Given the description of an element on the screen output the (x, y) to click on. 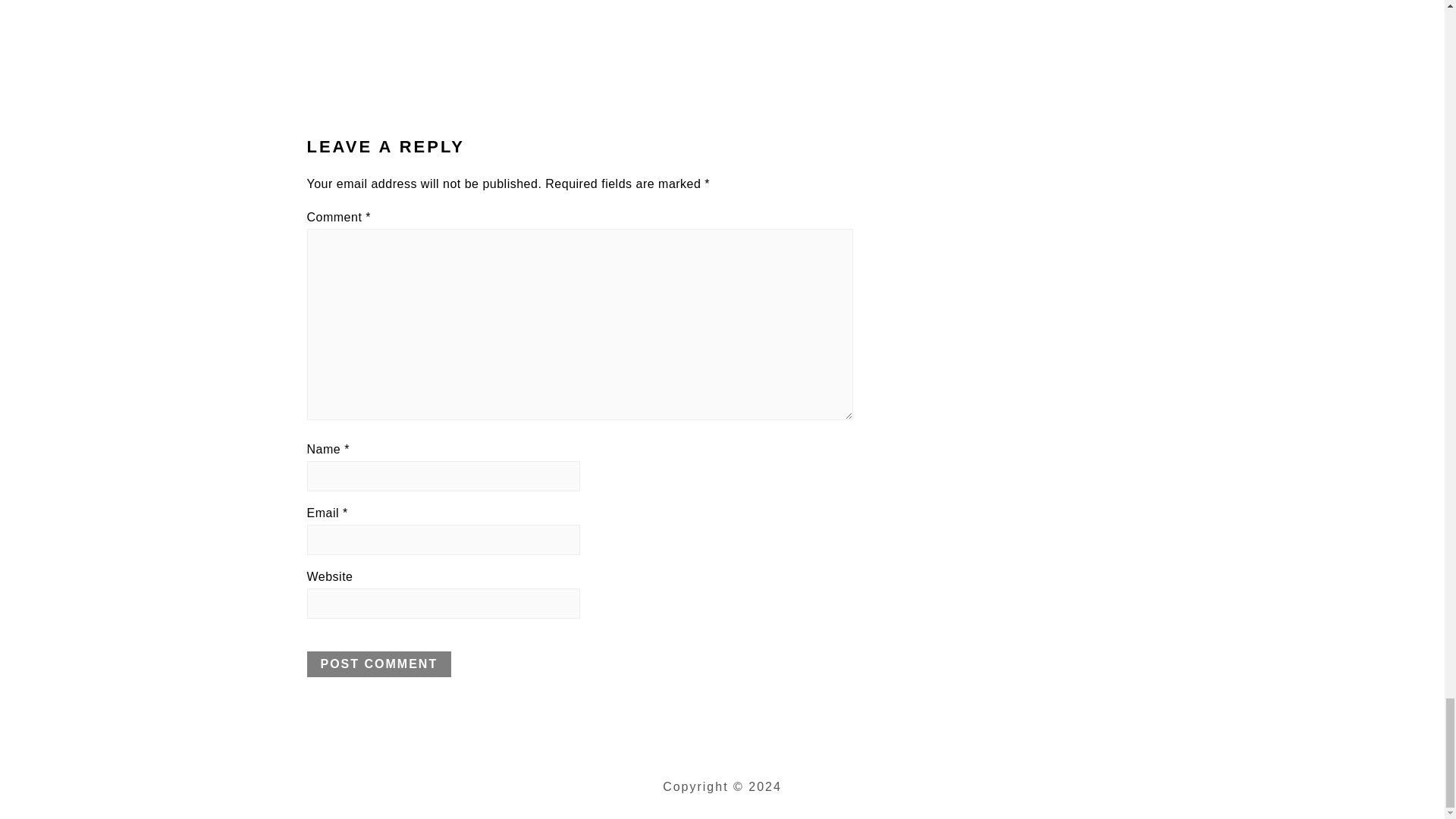
Post Comment (378, 664)
